Given the description of an element on the screen output the (x, y) to click on. 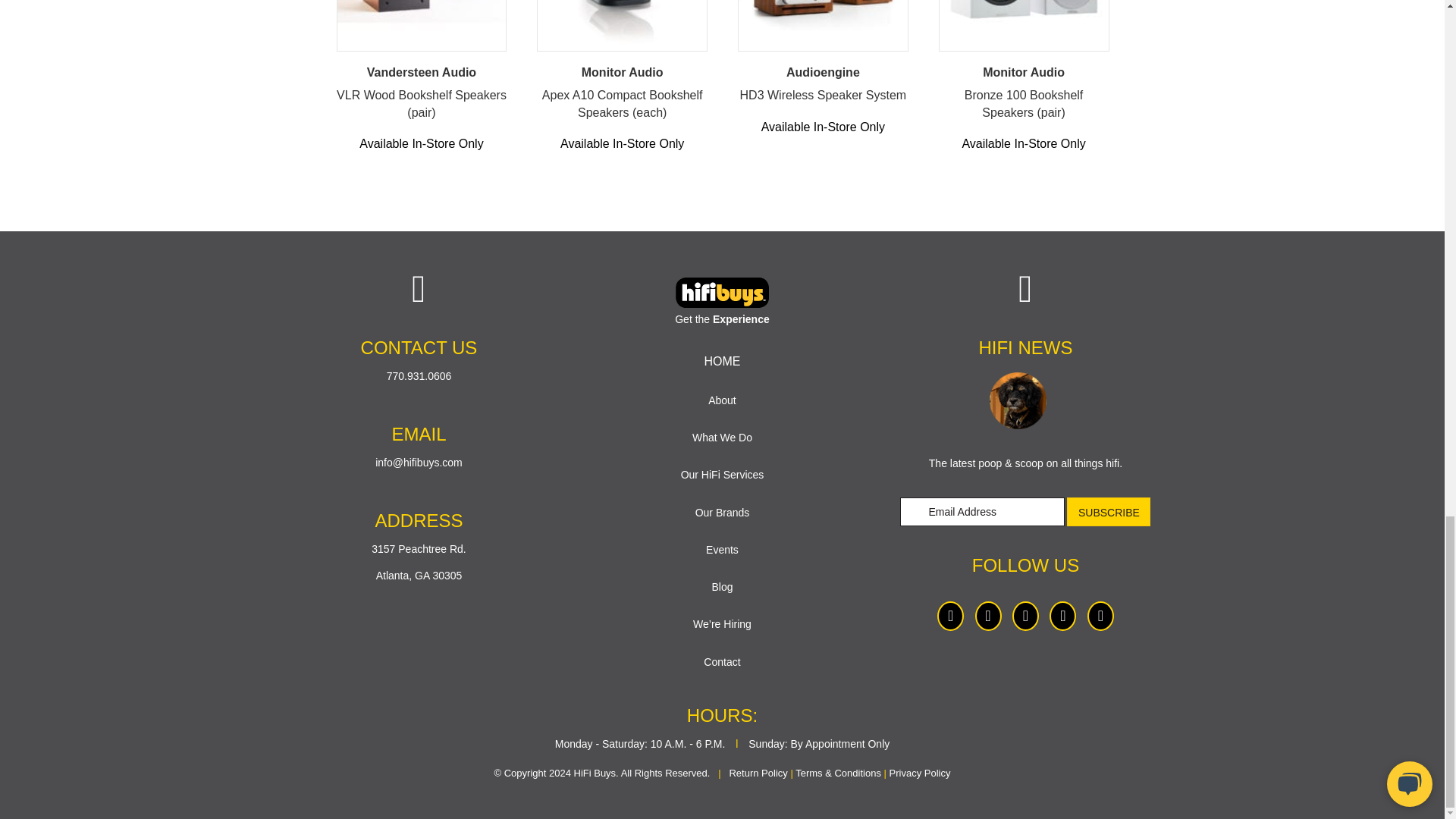
HiFi Buys (721, 292)
